Given the description of an element on the screen output the (x, y) to click on. 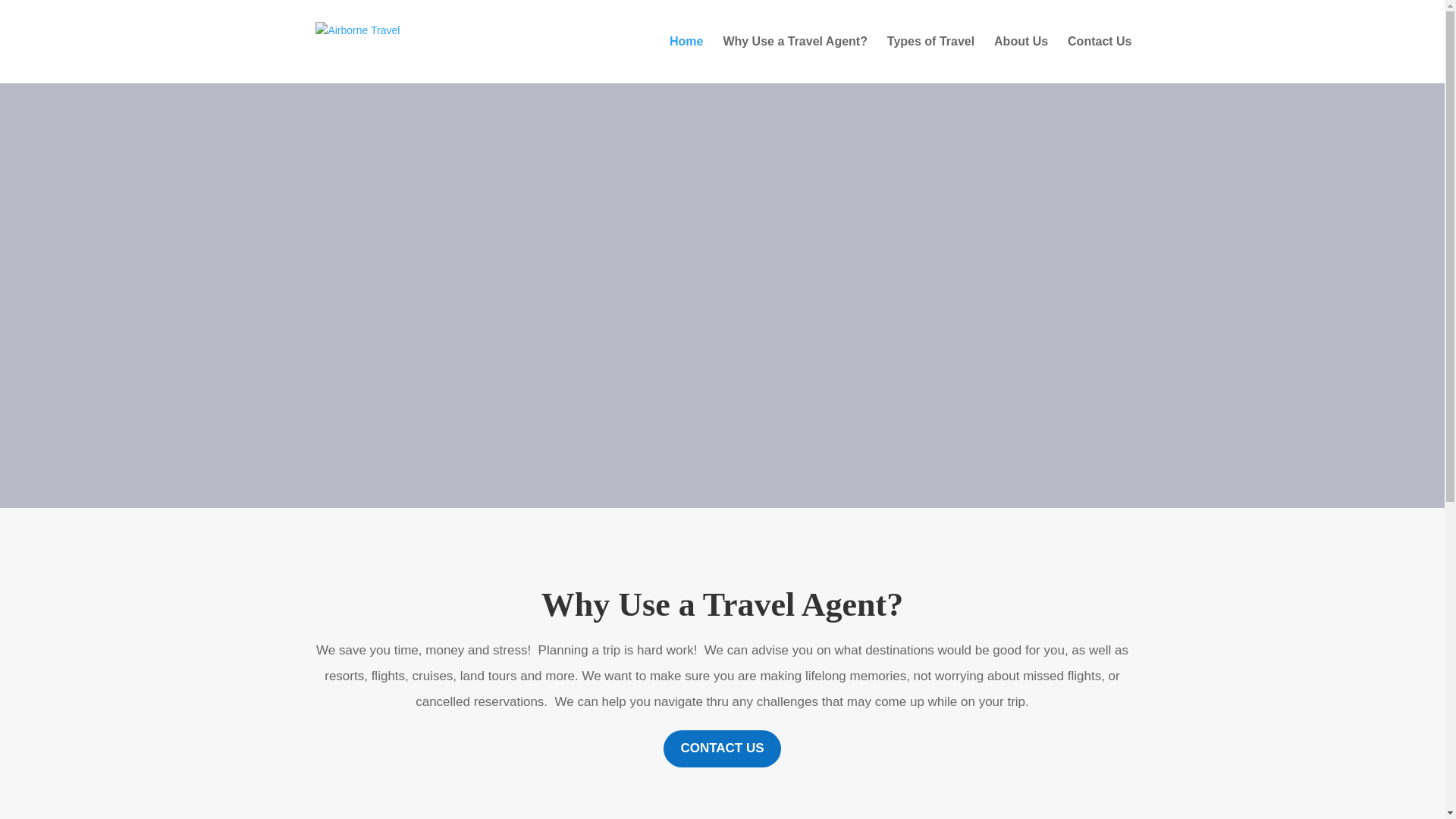
Contact Us (1099, 59)
Why Use a Travel Agent? (794, 59)
CONTACT US (721, 748)
About Us (1021, 59)
Types of Travel (930, 59)
